Given the description of an element on the screen output the (x, y) to click on. 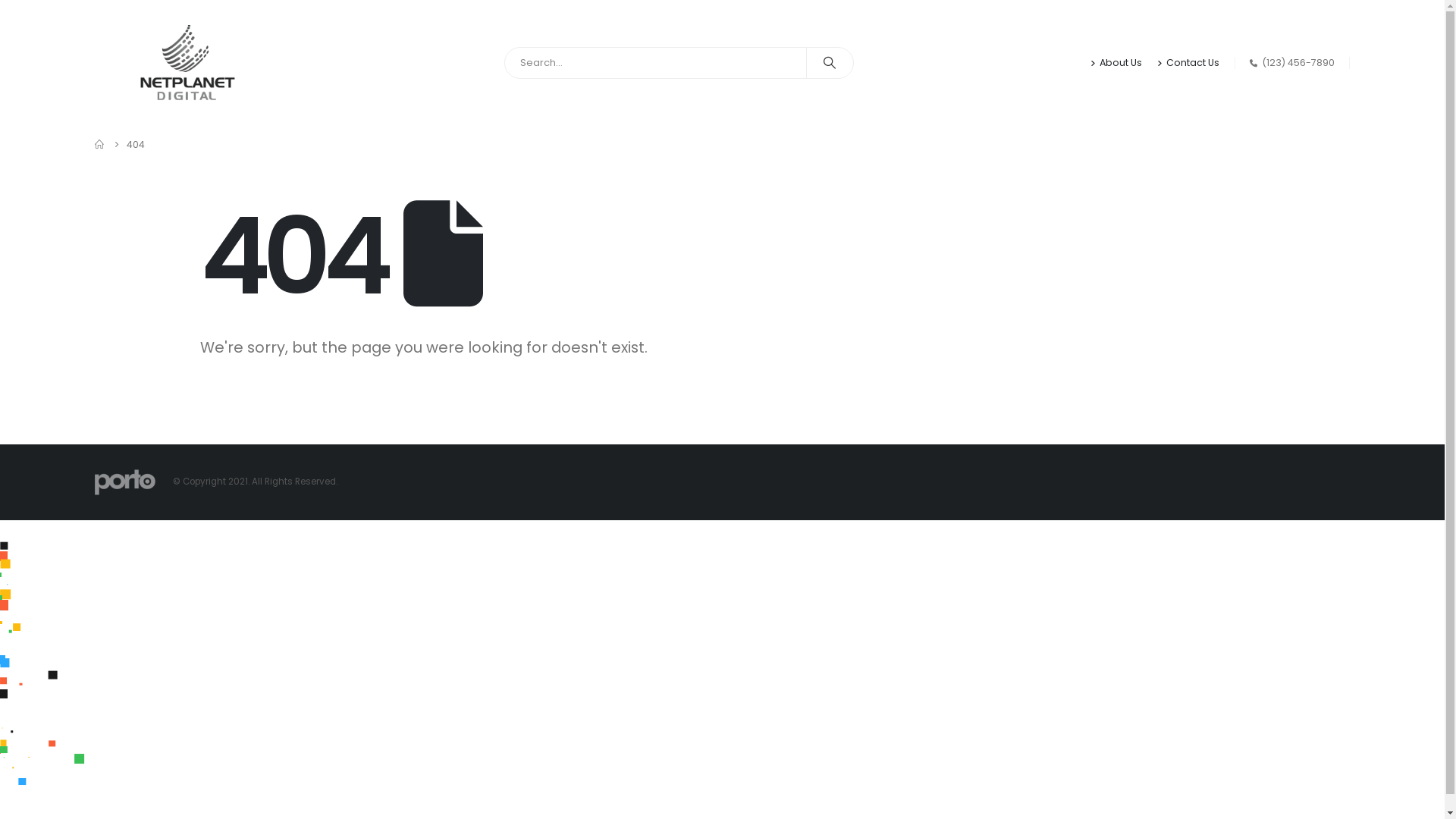
About Us Element type: text (1125, 62)
Contact Us Element type: text (1194, 62)
Go to Home Page Element type: hover (99, 143)
Search Element type: hover (835, 62)
Netplanet Digital Demo - Digital Agency Element type: hover (124, 481)
Netplanet Digital Demo - Digital Agency Element type: hover (186, 62)
